Given the description of an element on the screen output the (x, y) to click on. 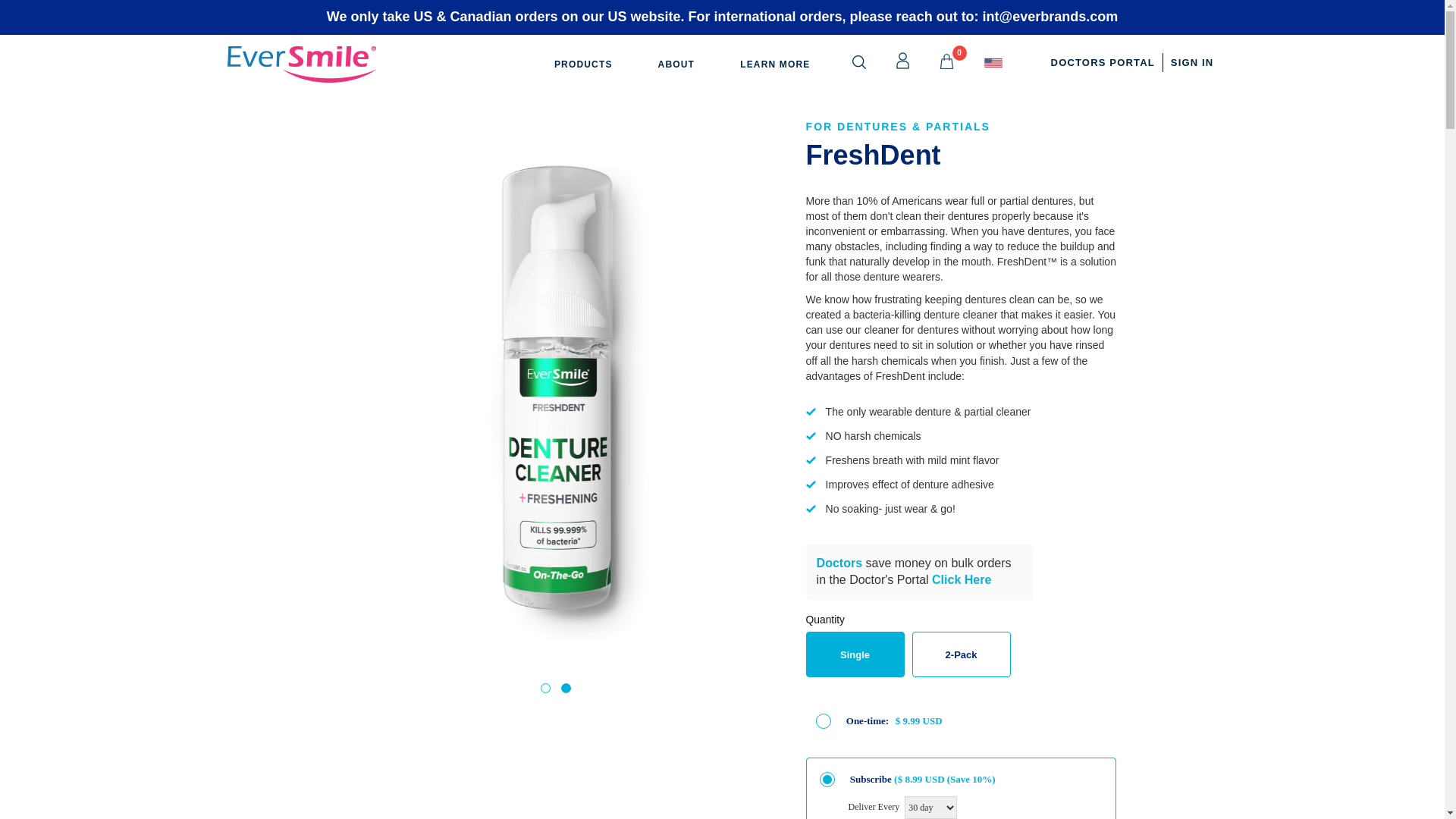
ABOUT (676, 64)
PRODUCTS (583, 64)
DOCTORS PORTAL (1103, 62)
LEARN MORE (775, 64)
logo (300, 63)
SIGN IN (1192, 61)
